Given the description of an element on the screen output the (x, y) to click on. 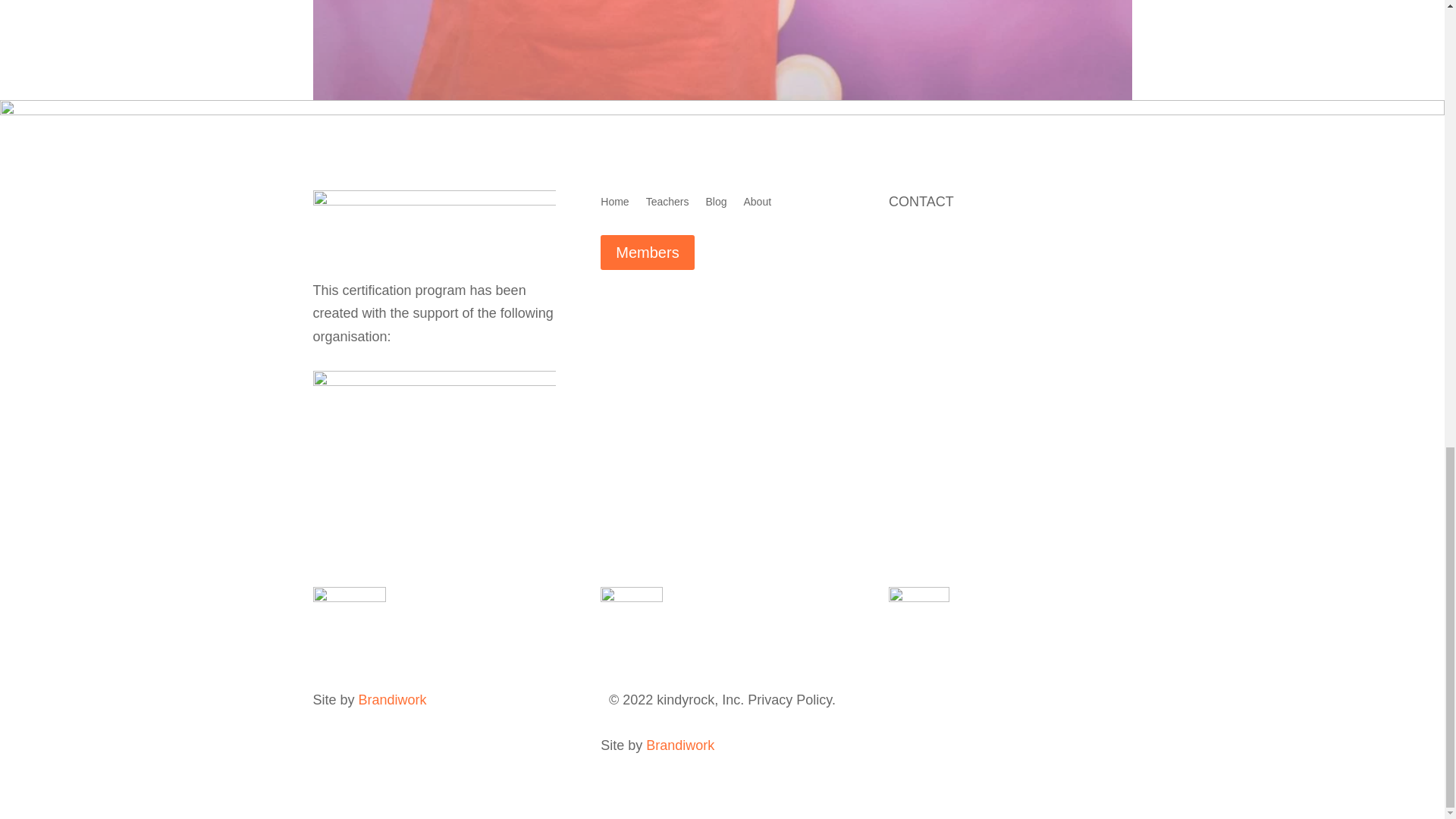
Blog (715, 204)
Teachers (667, 204)
Members (646, 252)
Brandiwork (392, 699)
youtube (349, 617)
Home (613, 204)
About (756, 204)
spotify (630, 617)
new zealand music commission logo (433, 417)
kindyRock GLOW with tagline (433, 223)
